Given the description of an element on the screen output the (x, y) to click on. 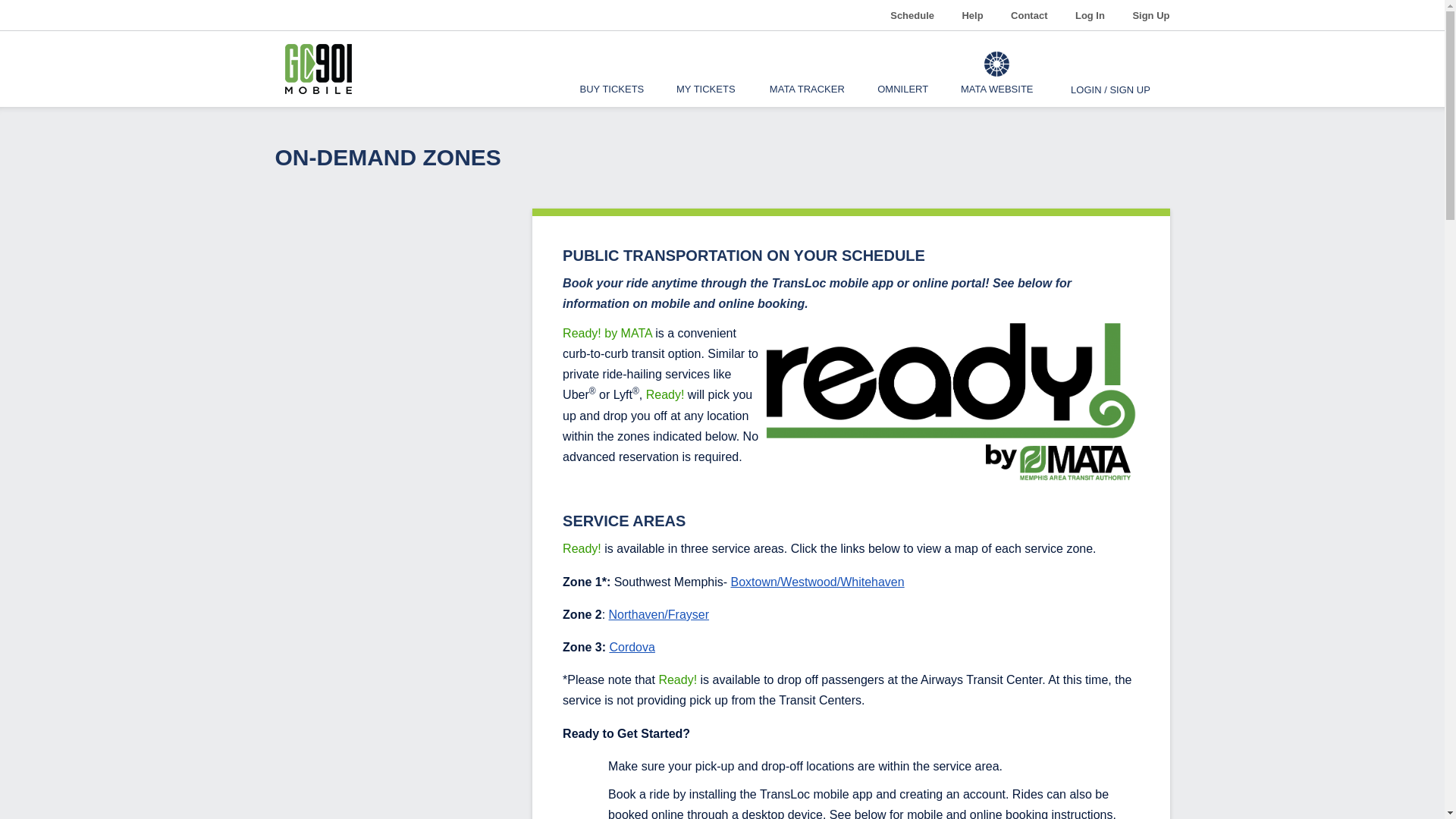
BUY TICKETS (611, 69)
MY TICKETS (706, 69)
Sign Up (1145, 15)
Log In (1090, 15)
Help (972, 15)
MATA TRACKER (807, 69)
Contact (1028, 15)
